Given the description of an element on the screen output the (x, y) to click on. 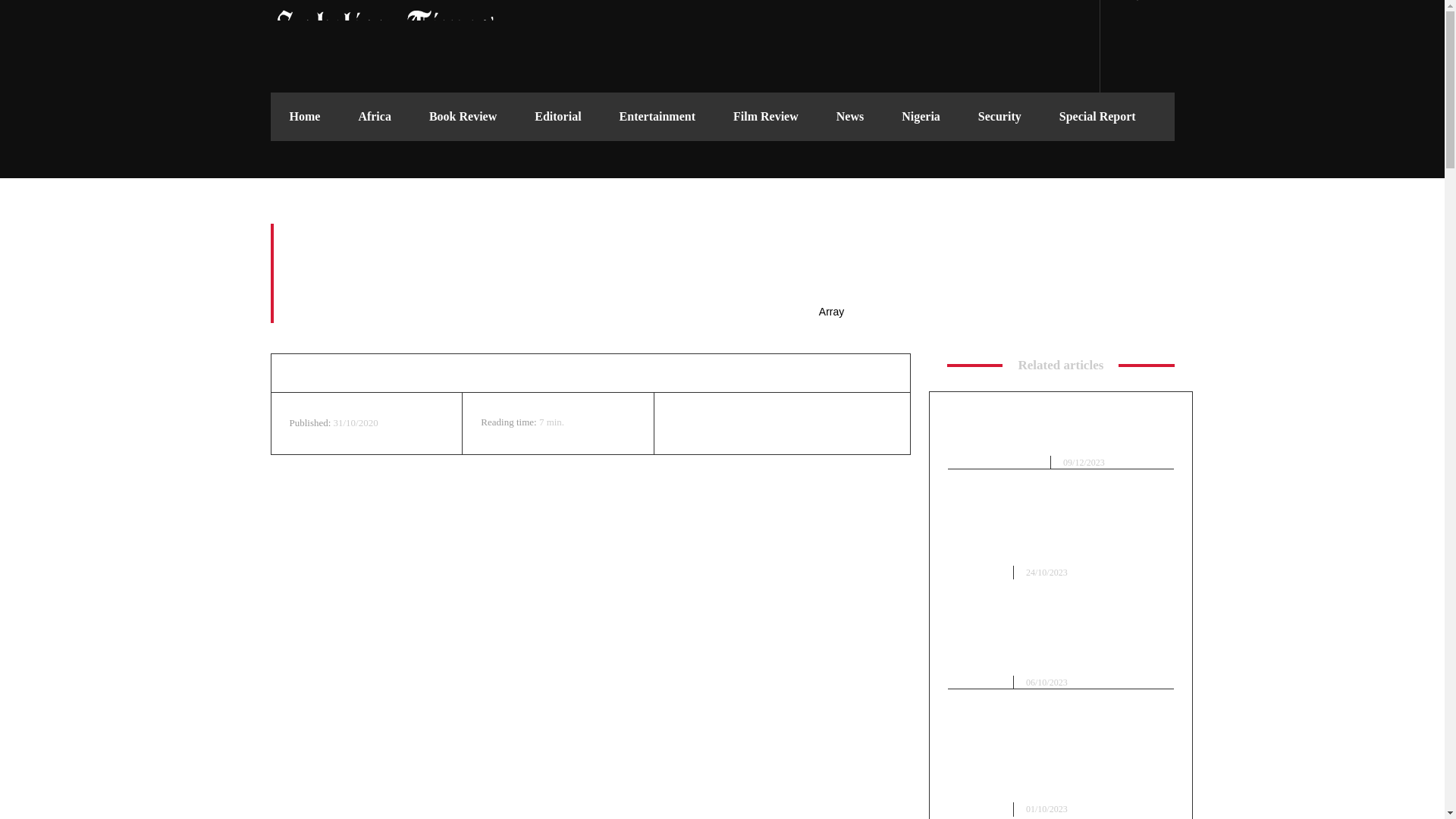
Security (1000, 116)
Film Review (765, 116)
Nigeria (920, 116)
News (849, 116)
Special Report (1097, 116)
Home (304, 116)
Disappearing Palestine and Eretz Israel (1059, 433)
Editorial (557, 116)
Book Review (462, 116)
Entertainment (656, 116)
